Given the description of an element on the screen output the (x, y) to click on. 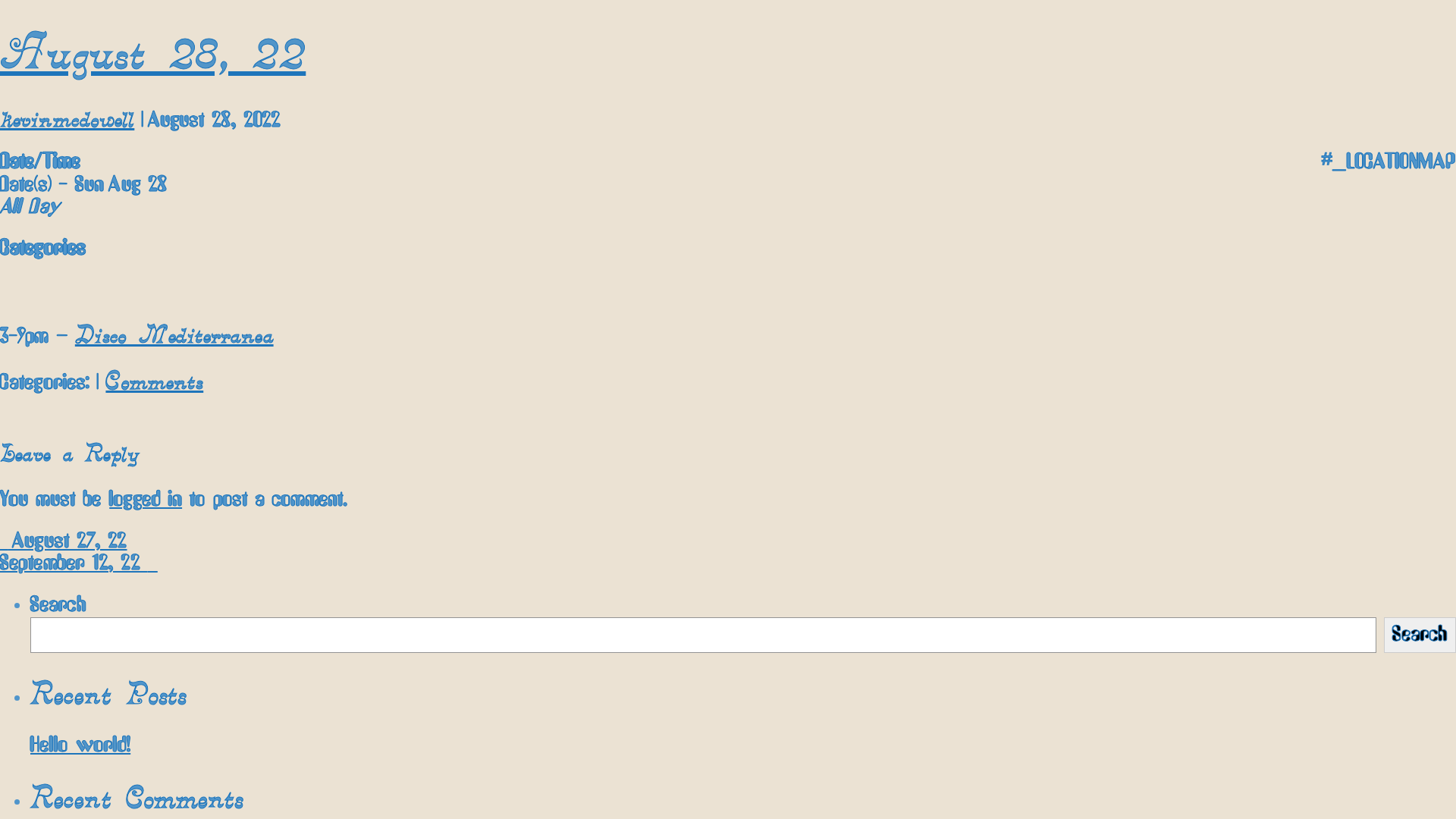
Hello world! Element type: text (80, 745)
Disco Mediterranea Element type: text (174, 334)
logged in Element type: text (145, 499)
Comments Element type: text (154, 380)
kevinmcdowell Element type: text (67, 118)
August 28, 22 Element type: text (152, 51)
